Given the description of an element on the screen output the (x, y) to click on. 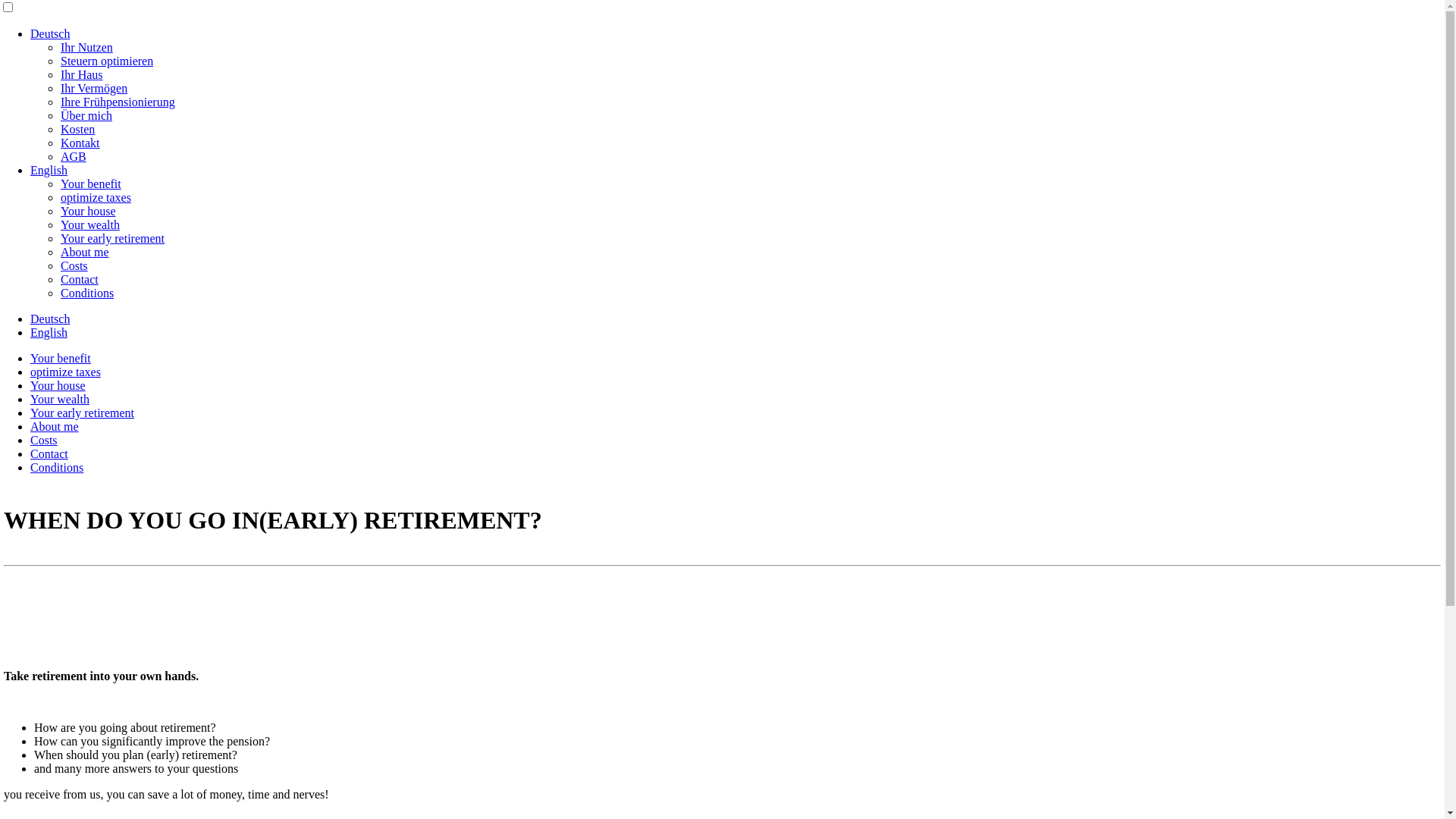
Costs Element type: text (73, 265)
Deutsch Element type: text (49, 33)
Your early retirement Element type: text (82, 412)
Contact Element type: text (49, 453)
English Element type: text (48, 169)
Deutsch Element type: text (49, 318)
Your early retirement Element type: text (112, 238)
Ihr Haus Element type: text (81, 74)
Your benefit Element type: text (60, 357)
optimize taxes Element type: text (65, 371)
Your wealth Element type: text (89, 224)
Costs Element type: text (43, 439)
Kontakt Element type: text (80, 142)
Steuern optimieren Element type: text (106, 60)
About me Element type: text (84, 251)
AGB Element type: text (73, 156)
Your house Element type: text (57, 385)
Your house Element type: text (88, 210)
Your wealth Element type: text (59, 398)
About me Element type: text (54, 426)
Ihr Nutzen Element type: text (86, 46)
Conditions Element type: text (86, 292)
Conditions Element type: text (56, 467)
Your benefit Element type: text (90, 183)
Contact Element type: text (79, 279)
optimize taxes Element type: text (95, 197)
English Element type: text (48, 332)
Kosten Element type: text (77, 128)
